Given the description of an element on the screen output the (x, y) to click on. 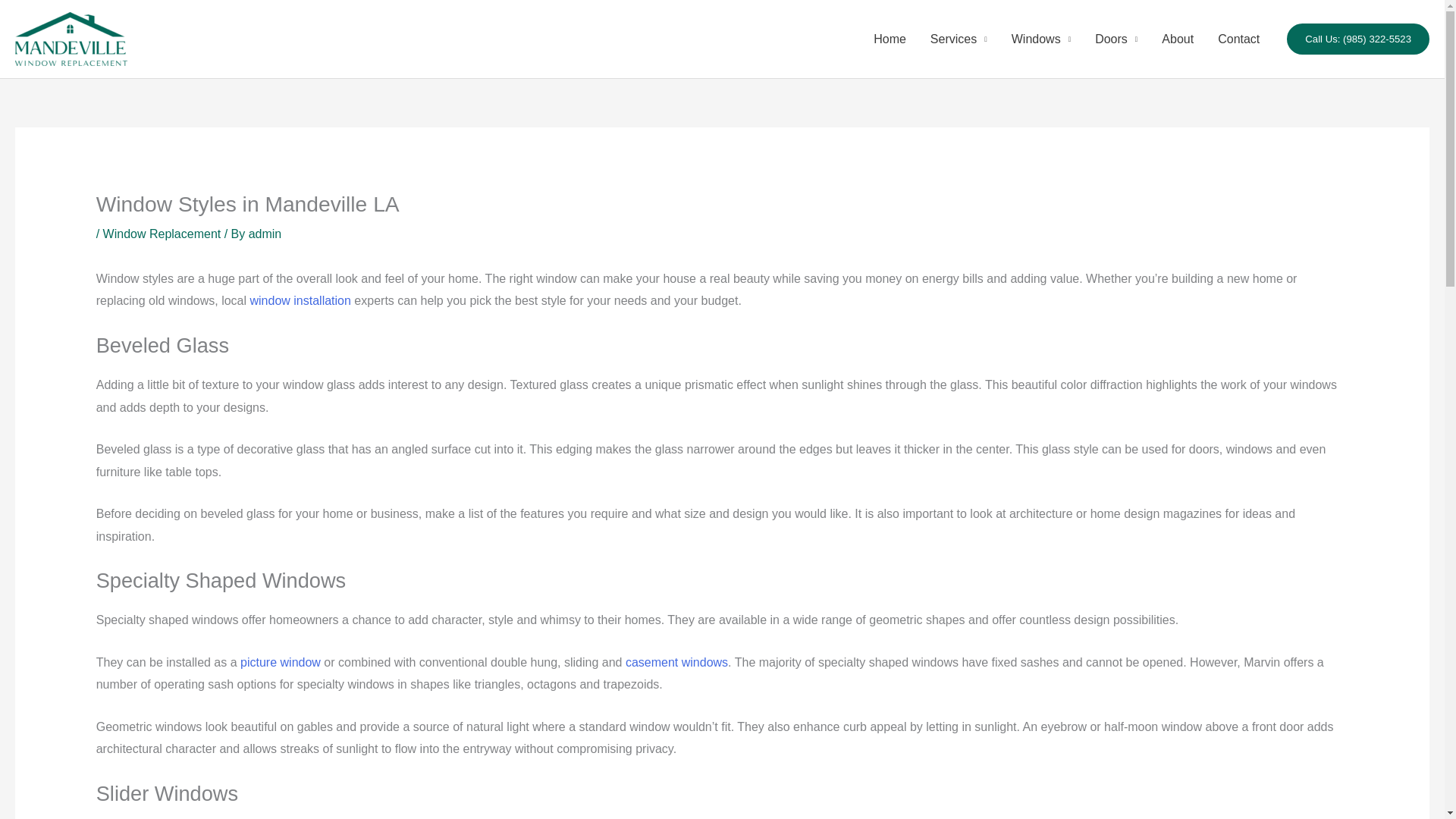
Services (958, 38)
Doors (1116, 38)
Windows (1040, 38)
Contact (1238, 38)
About (1177, 38)
Home (889, 38)
View all posts by admin (265, 233)
casement windows (677, 662)
